Given the description of an element on the screen output the (x, y) to click on. 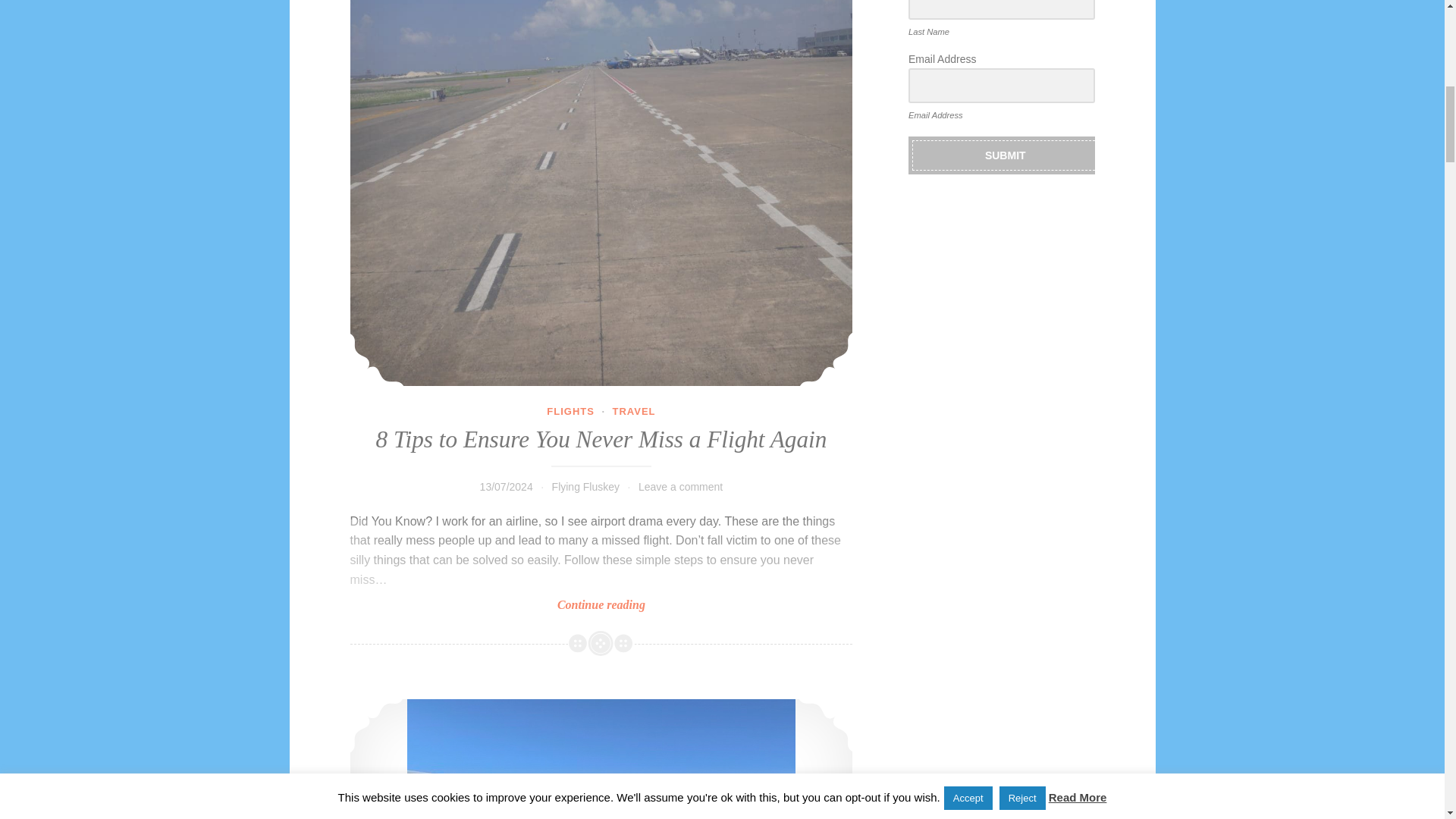
A Review of Bulgaria Air A220-300 Economy (601, 759)
